Given the description of an element on the screen output the (x, y) to click on. 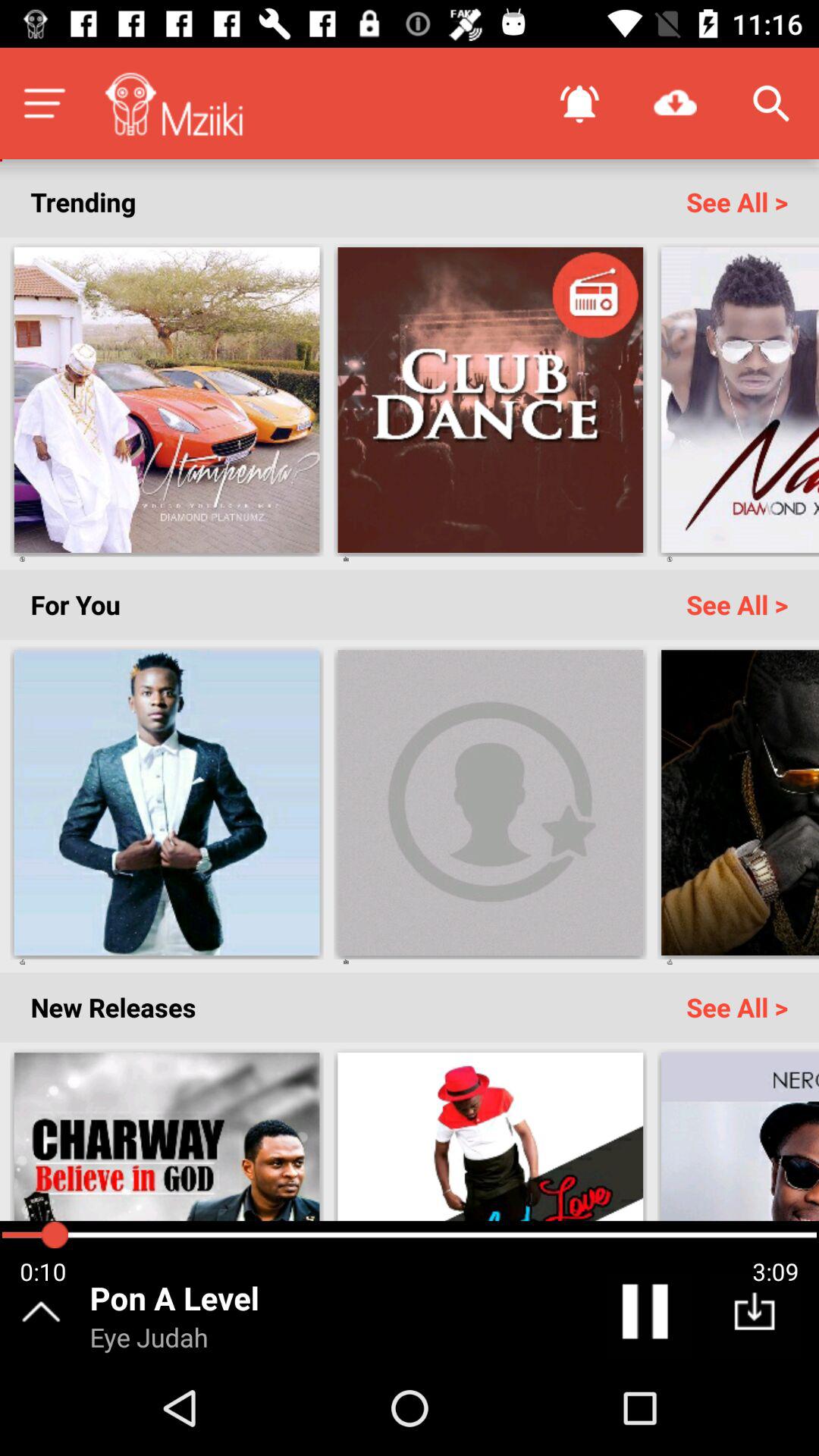
menu tab (44, 103)
